Given the description of an element on the screen output the (x, y) to click on. 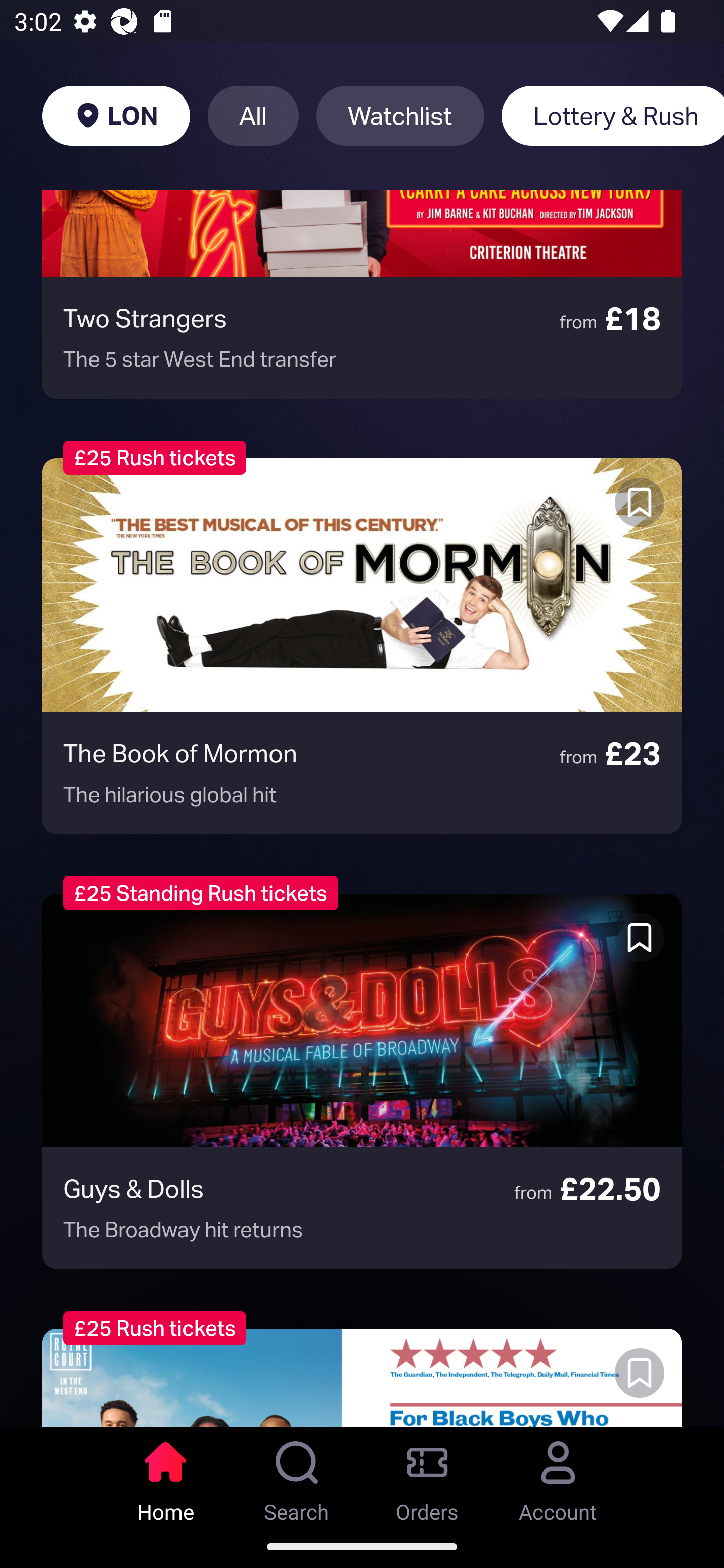
LON (115, 115)
All (252, 115)
Watchlist (400, 115)
Lottery & Rush (612, 115)
Guys & Dolls from £22.50 The Broadway hit returns (361, 1080)
Search (296, 1475)
Orders (427, 1475)
Account (558, 1475)
